Given the description of an element on the screen output the (x, y) to click on. 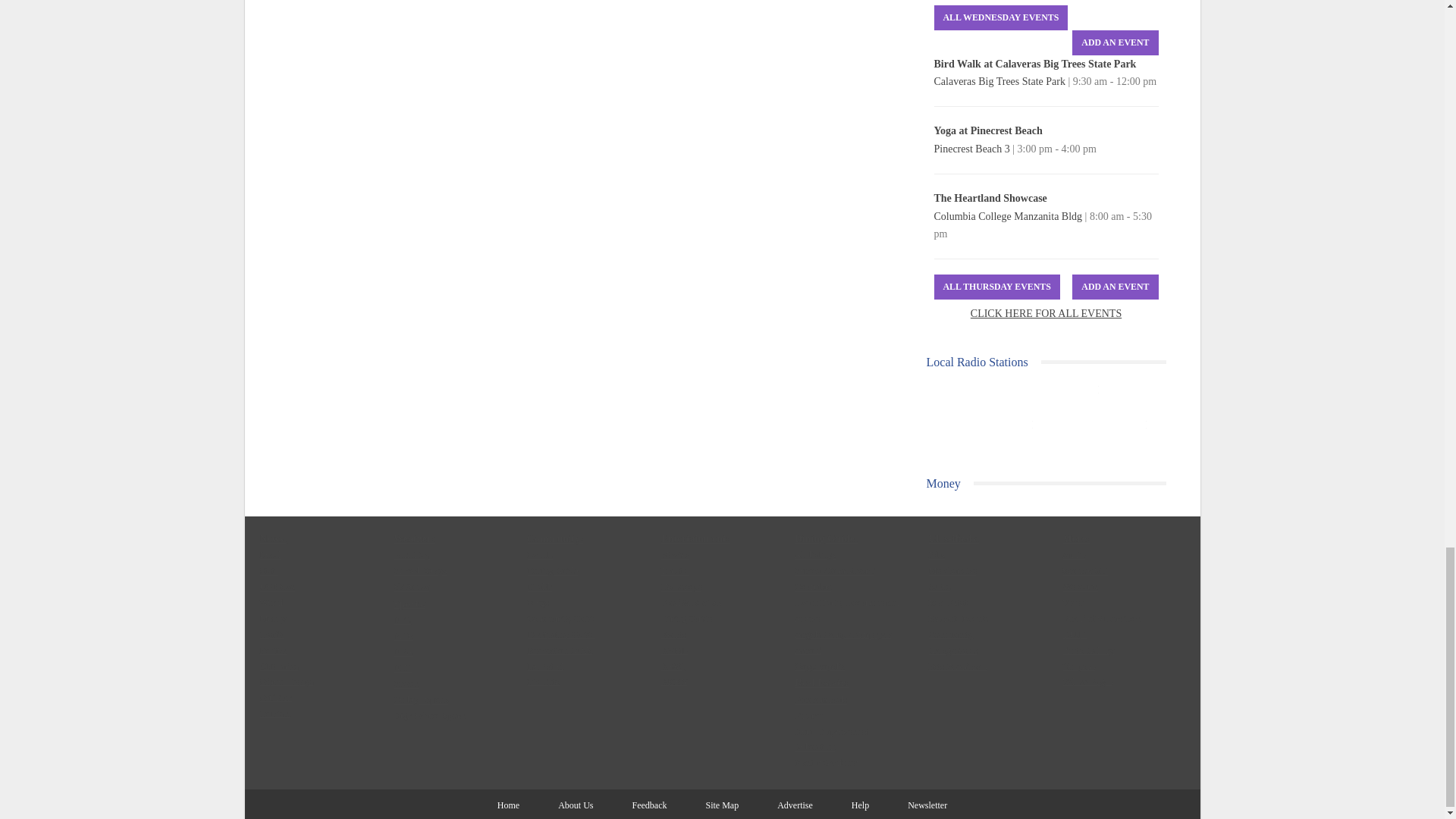
All Wednesday Events (1001, 17)
Add An Event (1114, 42)
All Thursday Events (996, 286)
Add An Event (1114, 286)
